Given the description of an element on the screen output the (x, y) to click on. 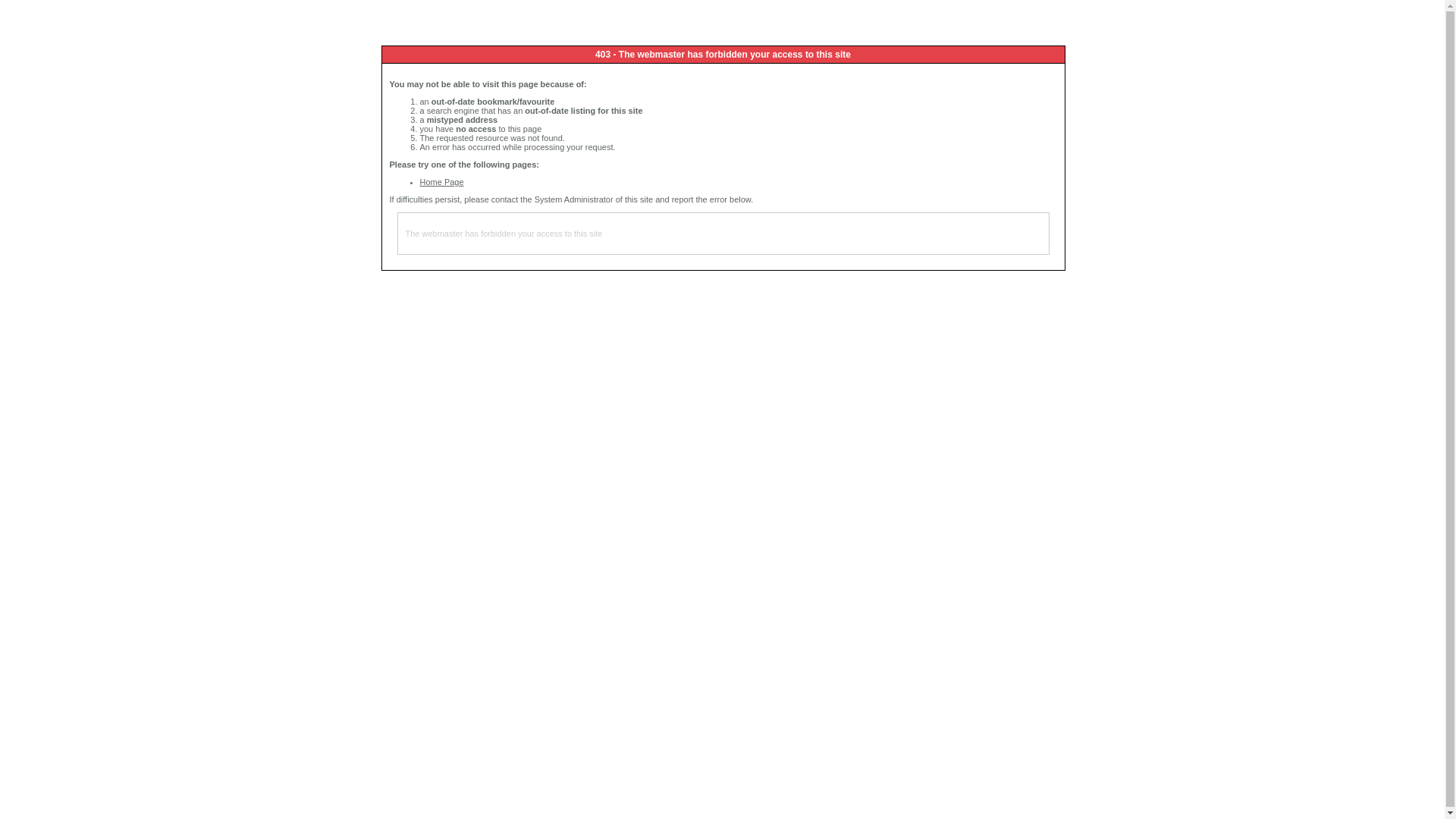
Home Page Element type: text (442, 181)
